Given the description of an element on the screen output the (x, y) to click on. 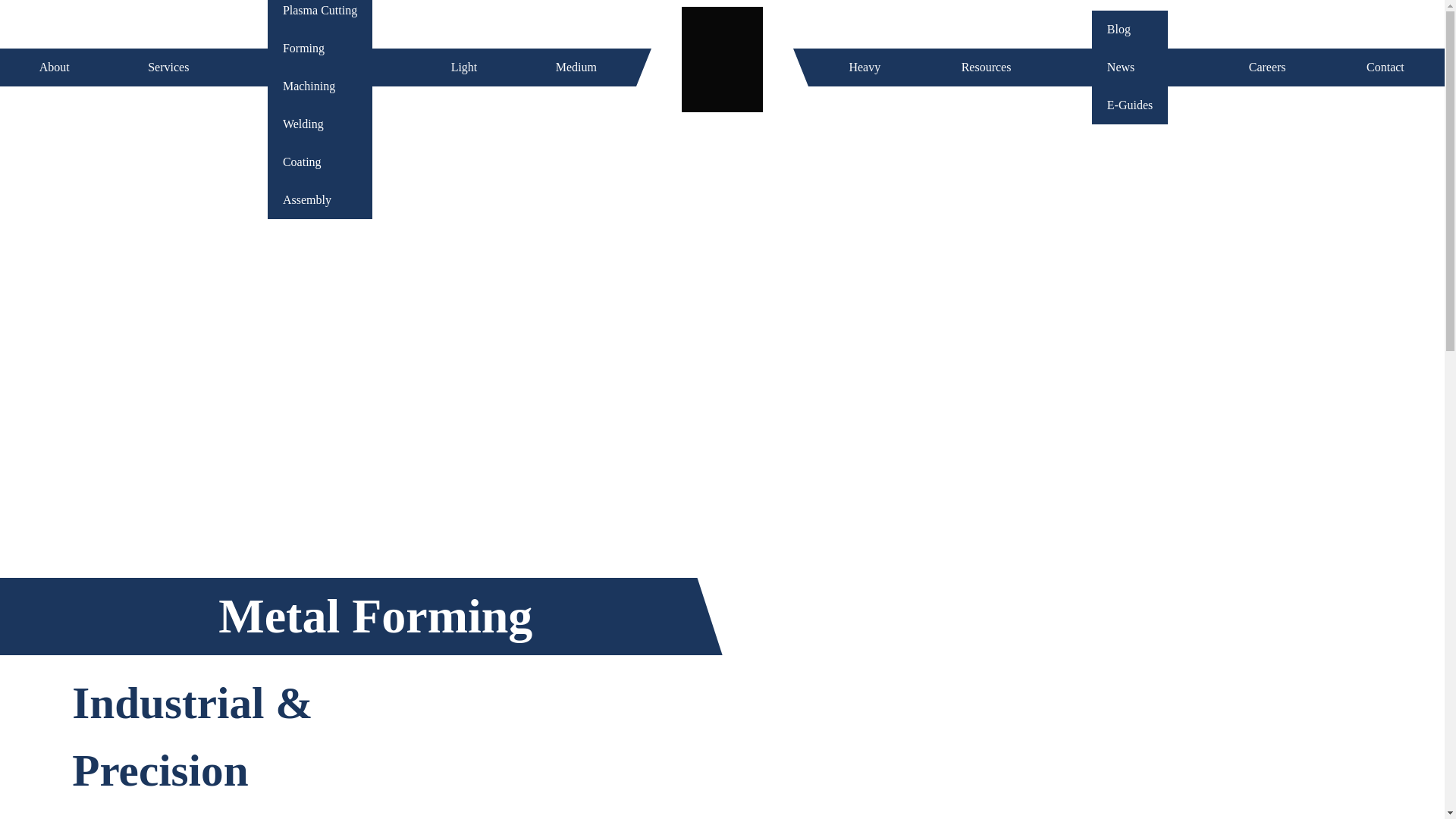
Plasma Cutting (319, 14)
Careers (1267, 67)
Forming (319, 47)
Services (168, 67)
News (1129, 67)
Assembly (319, 199)
Machining (319, 85)
Blog (1129, 29)
E-Guides (1129, 105)
Welding (319, 123)
